Given the description of an element on the screen output the (x, y) to click on. 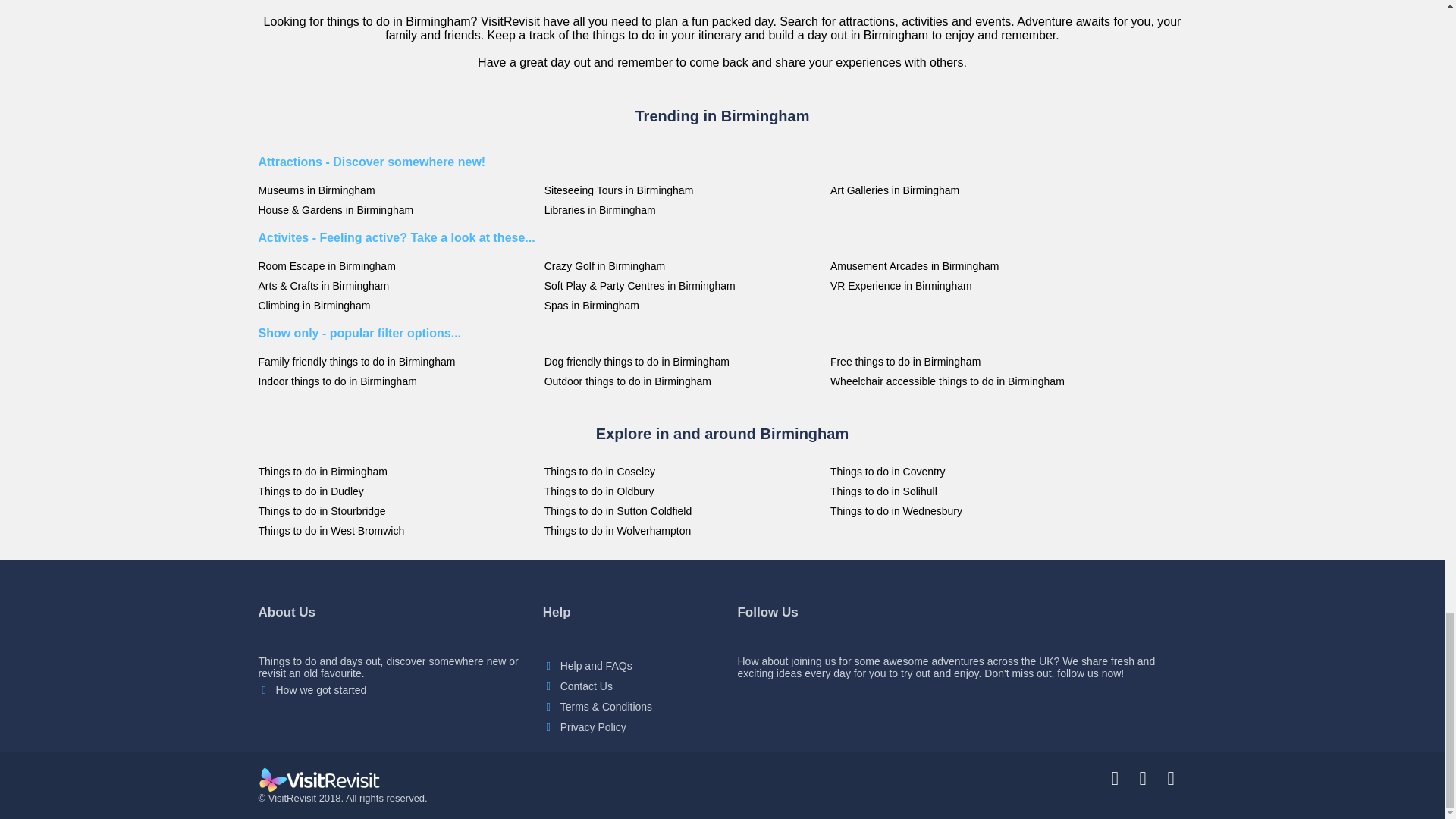
VR Experience in Birmingham (968, 285)
Art Galleries in Birmingham (968, 190)
Museums in Birmingham (396, 190)
Libraries in Birmingham (683, 209)
Crazy Golf in Birmingham (683, 265)
Amusement Arcades in Birmingham (968, 265)
Climbing in Birmingham (396, 305)
Room Escape in Birmingham (396, 265)
Spas in Birmingham (683, 305)
Siteseeing Tours in Birmingham (683, 190)
Family friendly things to do in Birmingham (396, 361)
